Given the description of an element on the screen output the (x, y) to click on. 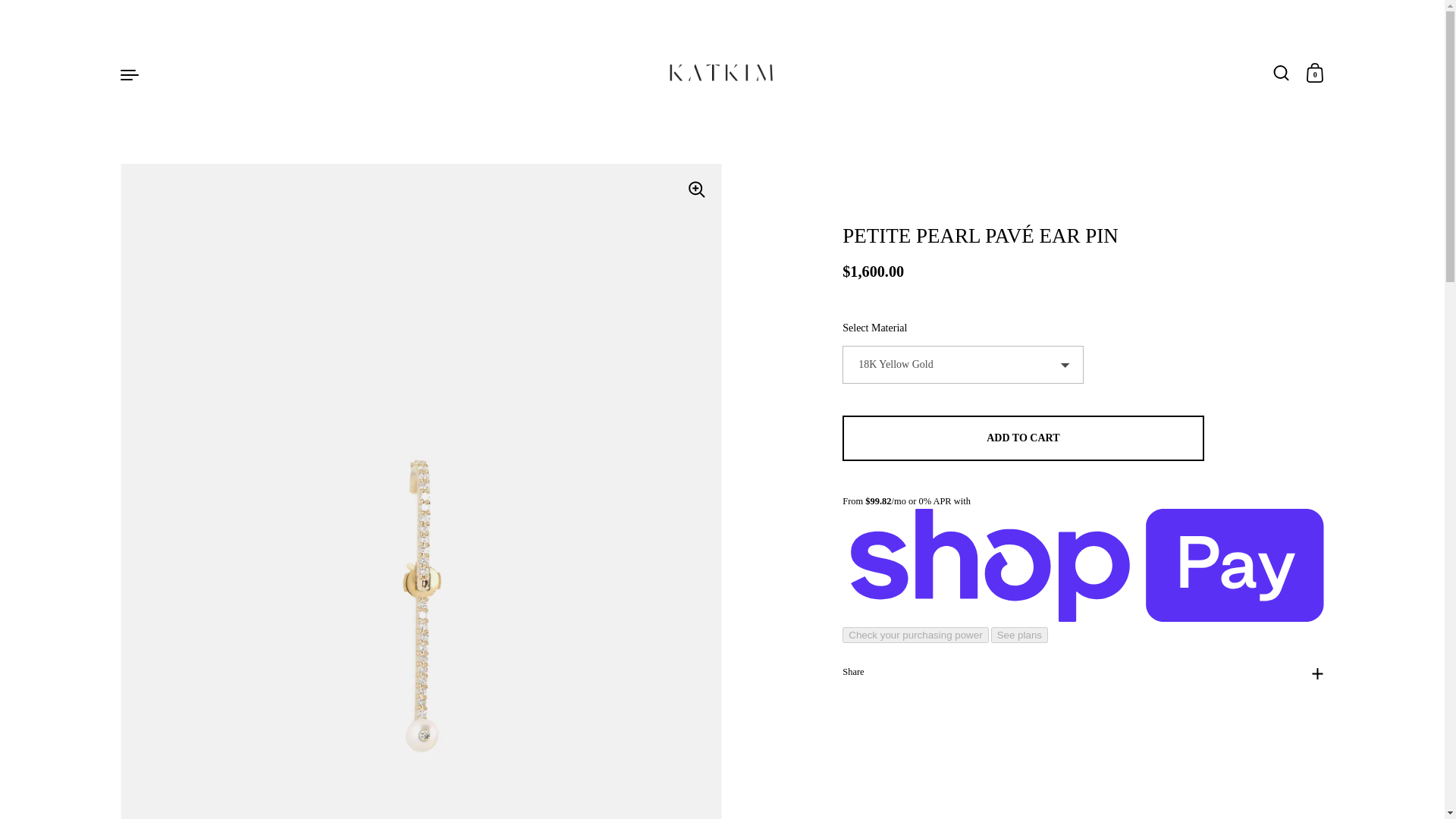
0 (1315, 73)
KATKIM (721, 73)
